Given the description of an element on the screen output the (x, y) to click on. 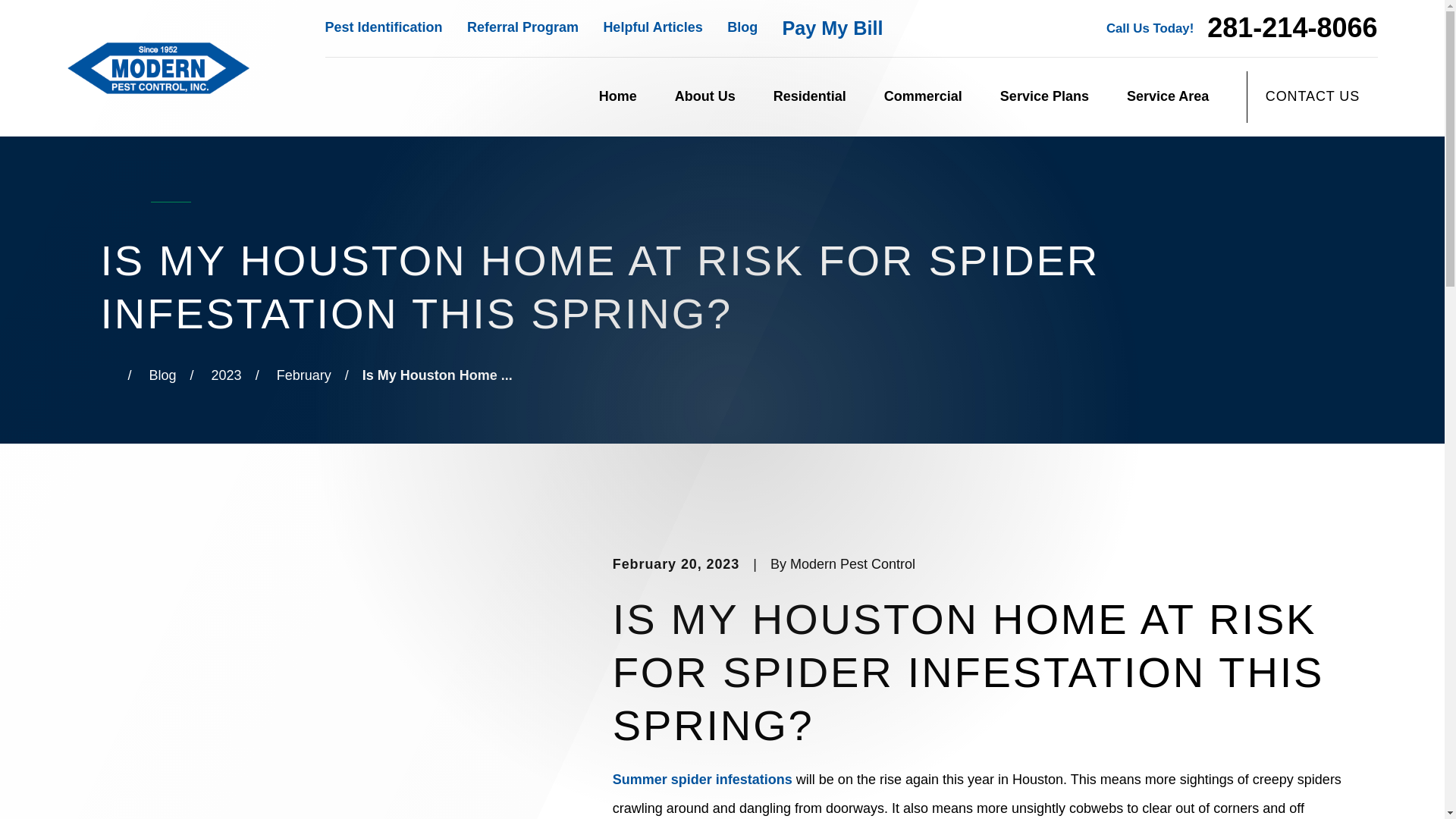
Helpful Articles (651, 27)
Referral Program (522, 27)
Commercial (922, 96)
Service Area (1167, 96)
Blog (741, 27)
Service Plans (1044, 96)
Go Home (106, 375)
Pest Identification (383, 27)
281-214-8066 (1292, 27)
Pay My Bill (833, 27)
